Given the description of an element on the screen output the (x, y) to click on. 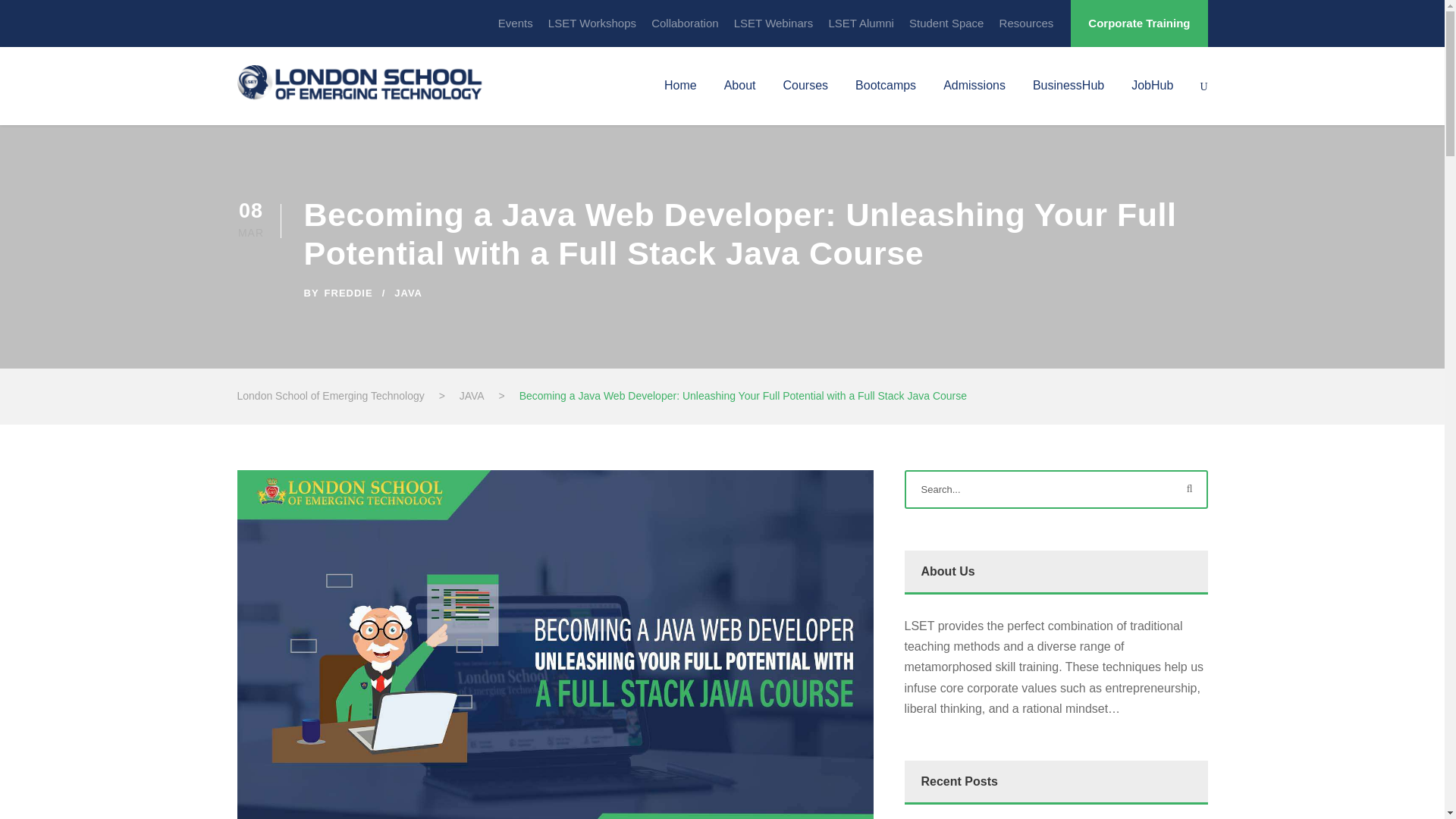
Go to the JAVA Category archives. (472, 395)
Go to London School of Emerging Technology. (329, 395)
Posts by Freddie (348, 292)
